Given the description of an element on the screen output the (x, y) to click on. 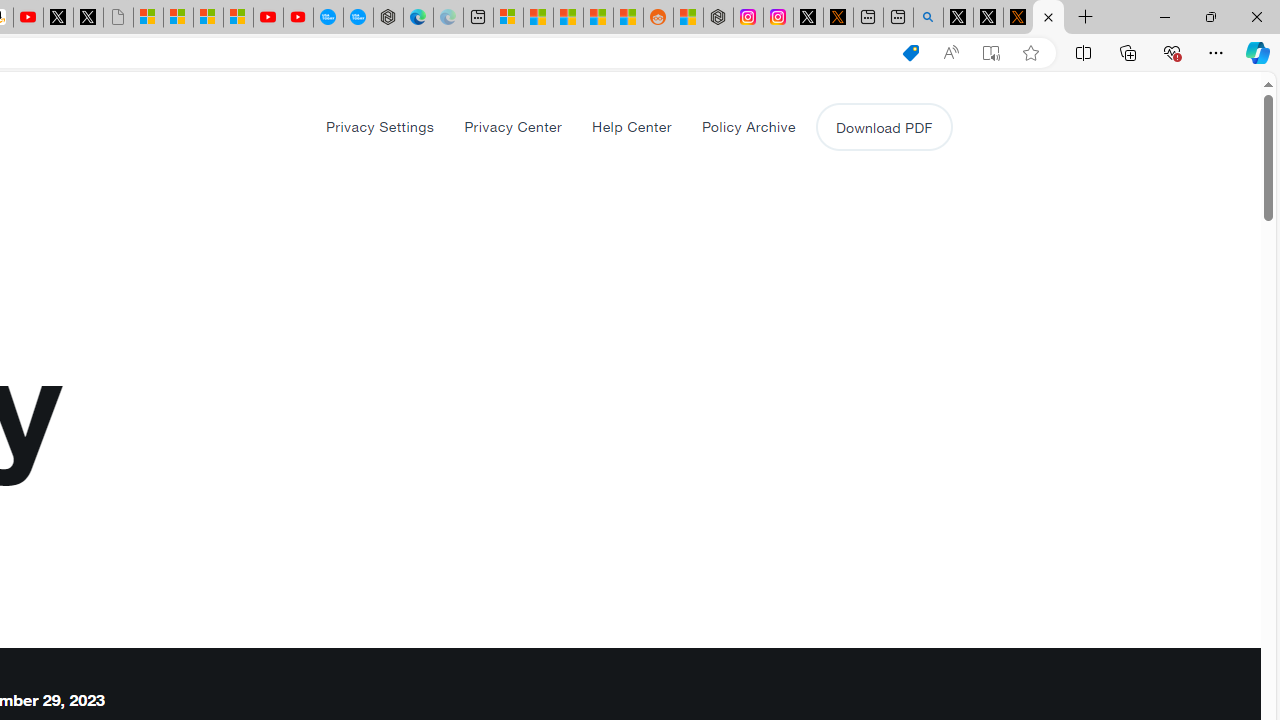
X (88, 17)
YouTube Kids - An App Created for Kids to Explore Content (298, 17)
Restore (1210, 16)
Help Center (631, 126)
Policy Archive (748, 126)
Privacy Center (513, 126)
New Tab (1085, 17)
Read aloud this page (Ctrl+Shift+U) (950, 53)
Settings and more (Alt+F) (1215, 52)
Add this page to favorites (Ctrl+D) (1030, 53)
GitHub (@github) / X (988, 17)
